Given the description of an element on the screen output the (x, y) to click on. 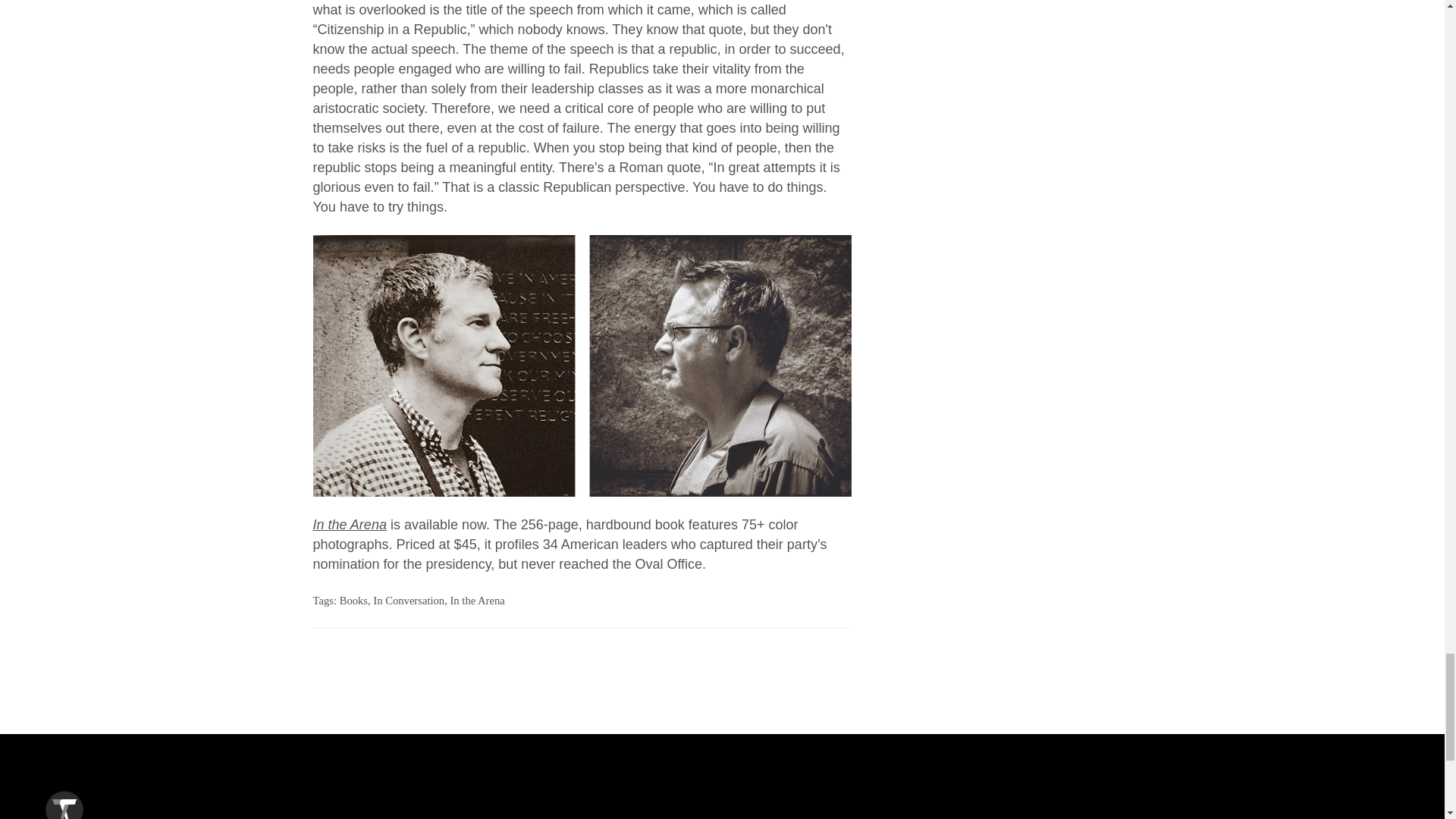
Trope Journal tagged In the Arena (476, 600)
In Conversation (408, 600)
Trope Journal tagged Books (353, 600)
In the Arena (349, 524)
In the Arena (476, 600)
Books (353, 600)
Trope Journal tagged In Conversation (408, 600)
